Given the description of an element on the screen output the (x, y) to click on. 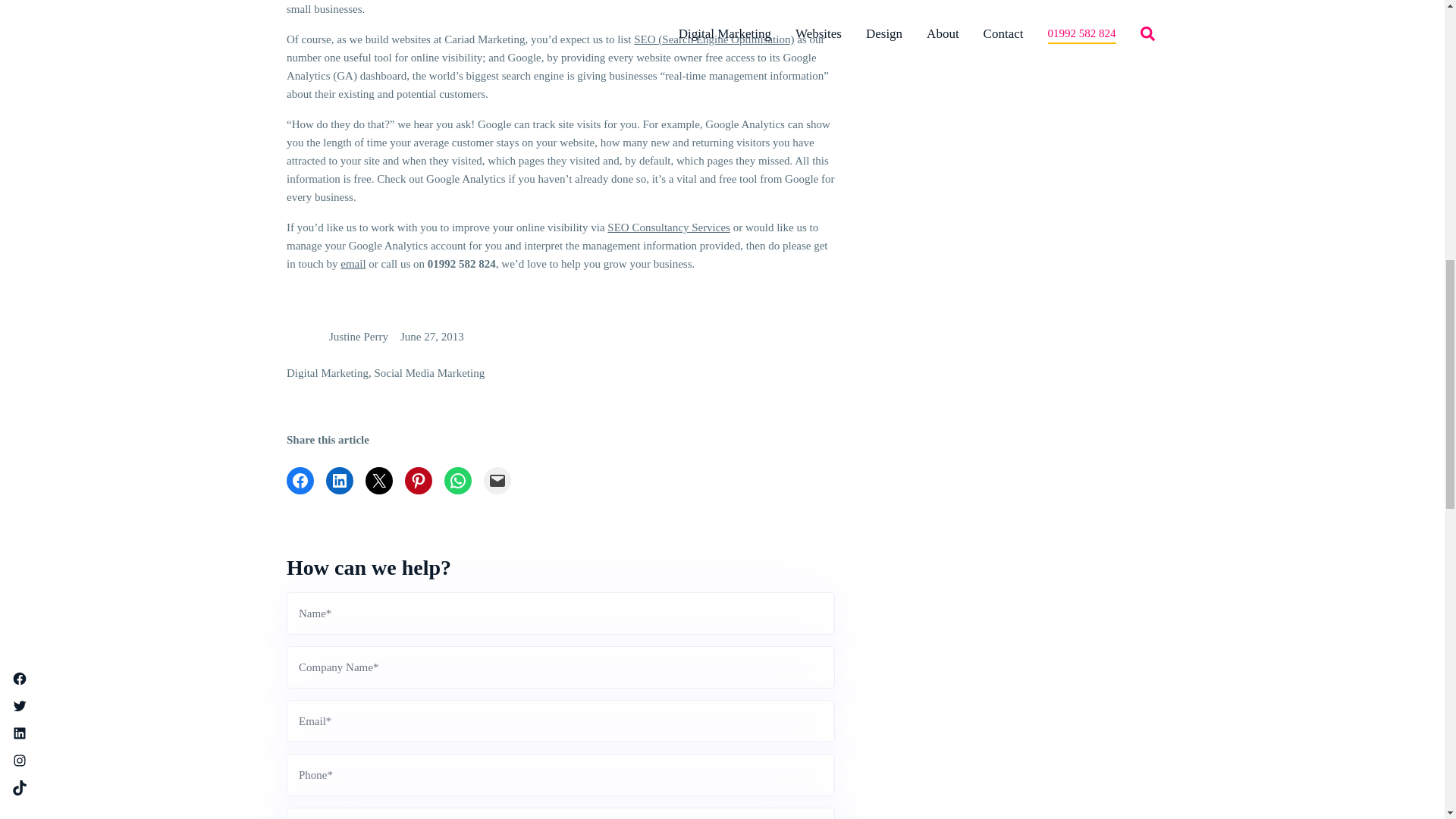
Share on WhatsApp (457, 480)
SEO Consultancy Services (668, 227)
Share on Pinterest (418, 480)
Share on LinkedIn (339, 480)
Share on Facebook (300, 480)
email (352, 263)
Digital Marketing (327, 372)
Social Media Marketing (429, 372)
SEO (713, 39)
Email this Page (379, 480)
